Given the description of an element on the screen output the (x, y) to click on. 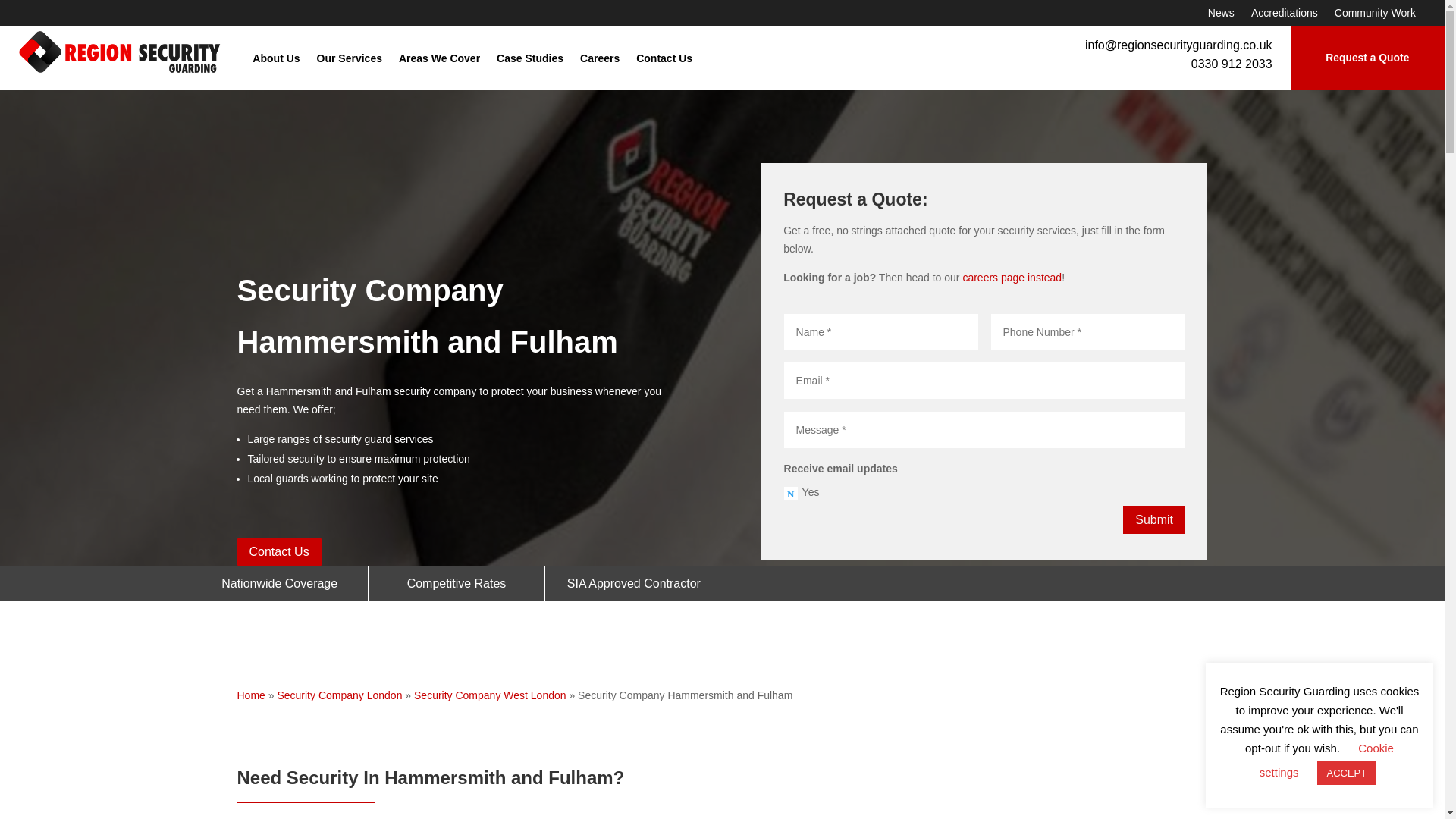
Security Company Hammersmith and Fulham (978, 790)
region security guarding logo (119, 52)
